Given the description of an element on the screen output the (x, y) to click on. 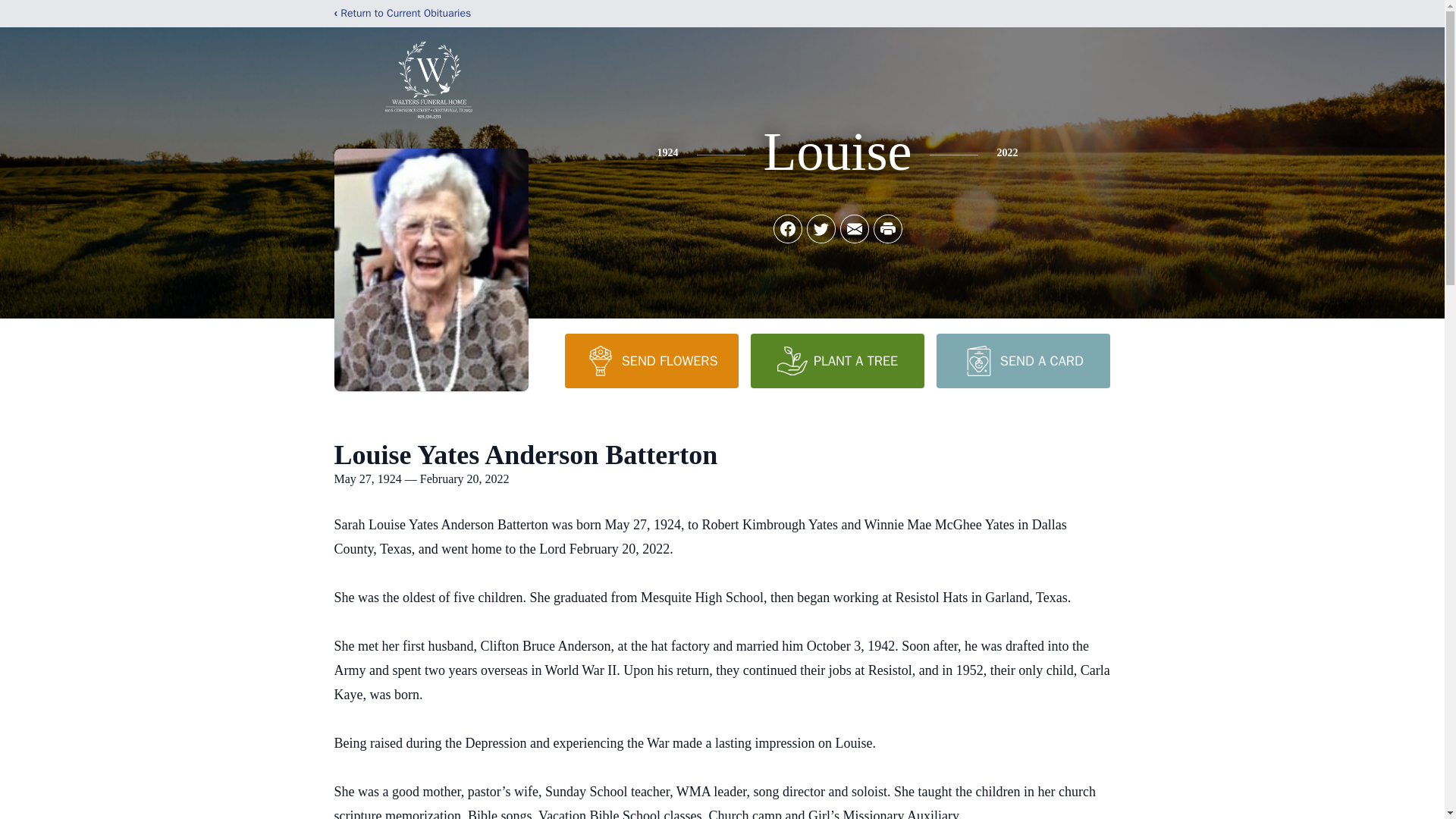
SEND A CARD (1022, 360)
PLANT A TREE (837, 360)
SEND FLOWERS (651, 360)
